Given the description of an element on the screen output the (x, y) to click on. 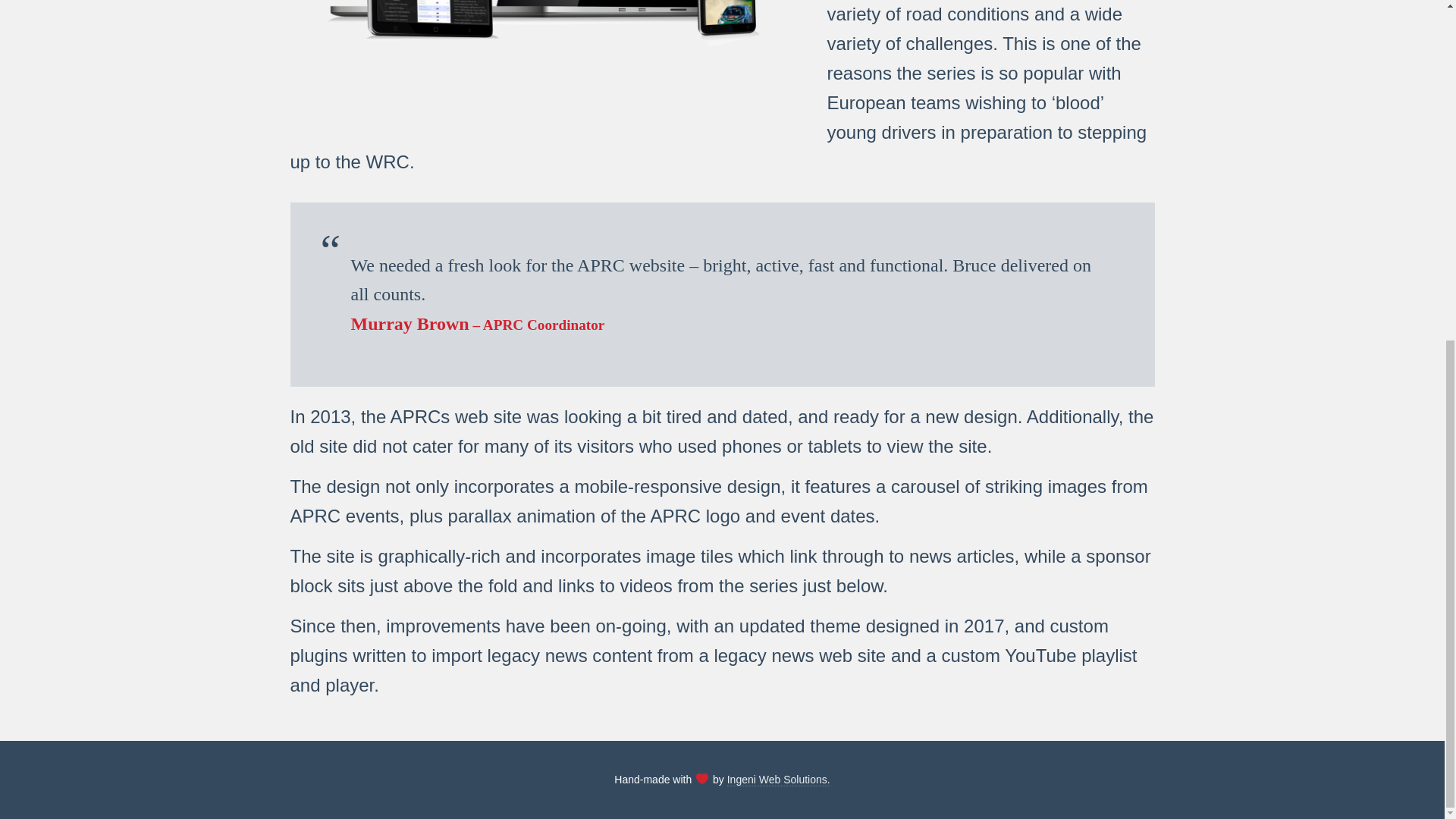
Ingeni Web Solutions. (777, 779)
